Given the description of an element on the screen output the (x, y) to click on. 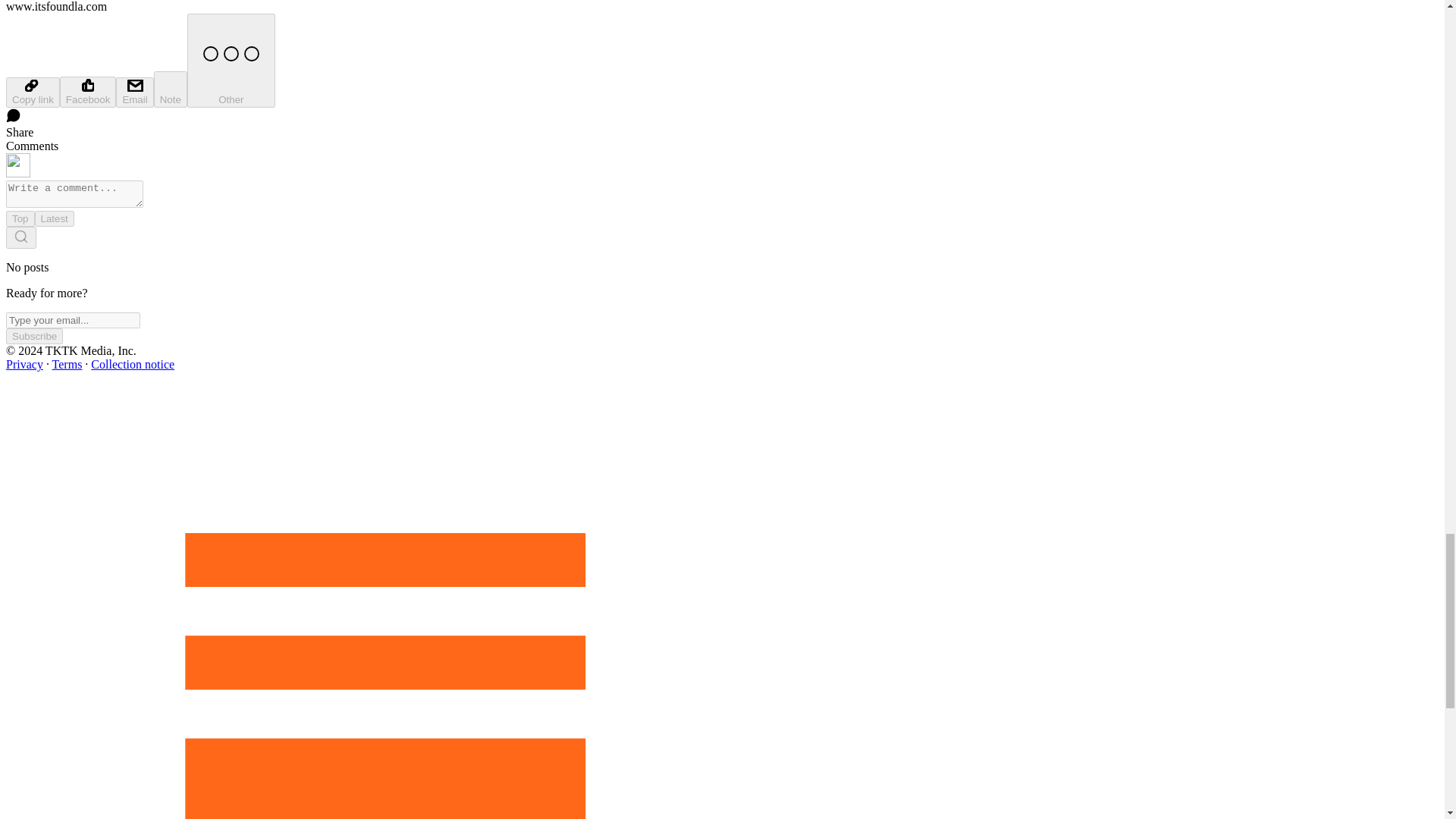
Note (170, 89)
Facebook (87, 91)
Email (134, 91)
Other (231, 60)
Latest (54, 218)
Copy link (32, 91)
Top (19, 218)
